Given the description of an element on the screen output the (x, y) to click on. 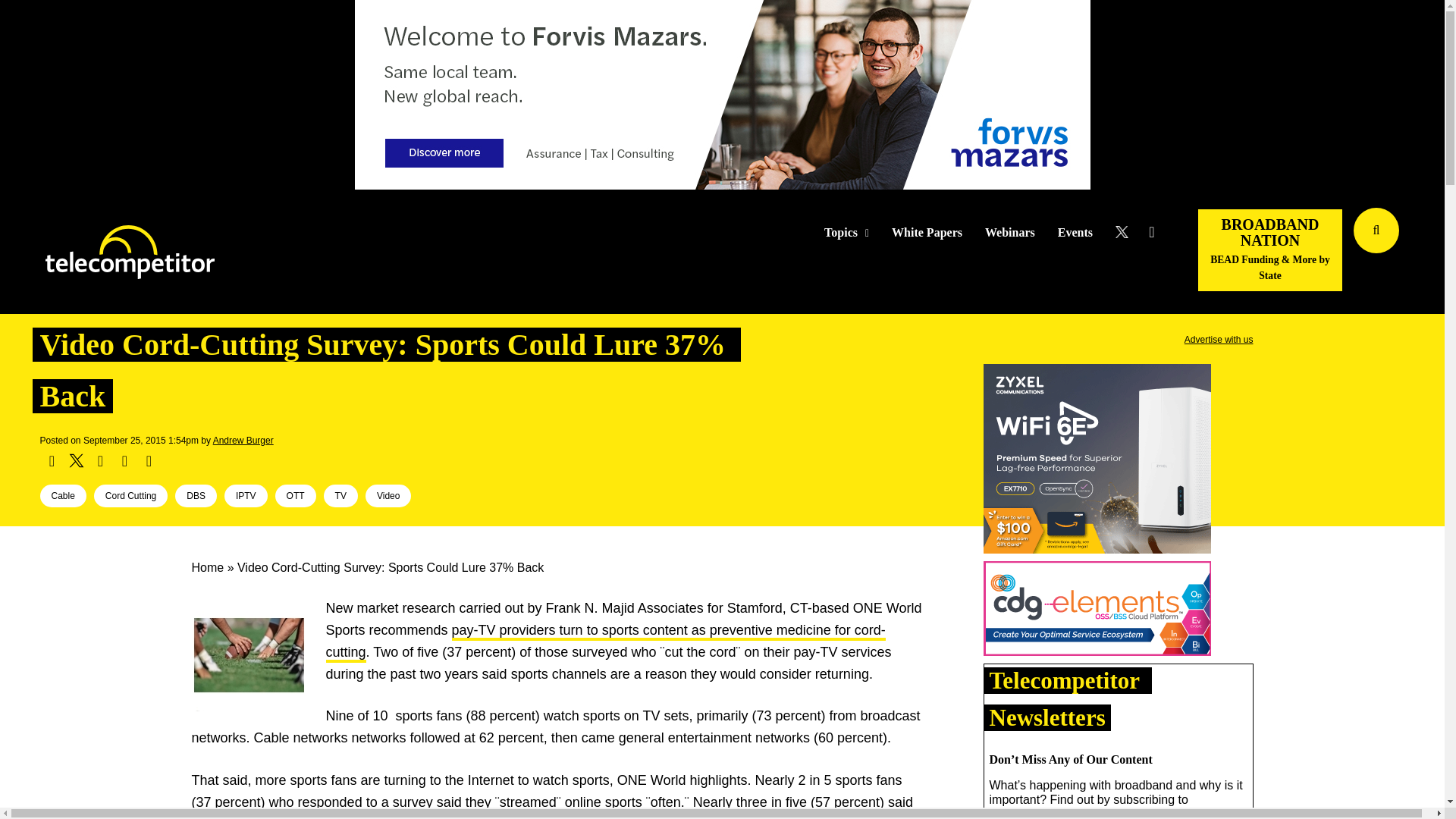
Follow Us on Twitter (1127, 232)
Share on Facebook (51, 460)
Spread the word on Twitter (75, 460)
CDG elements (1095, 611)
Search telecompetitor.com (1376, 230)
Follow Us on LinkedIN (1151, 232)
Events (1074, 232)
Webinars (1010, 232)
Pinterest (124, 460)
Search (1430, 253)
